Given the description of an element on the screen output the (x, y) to click on. 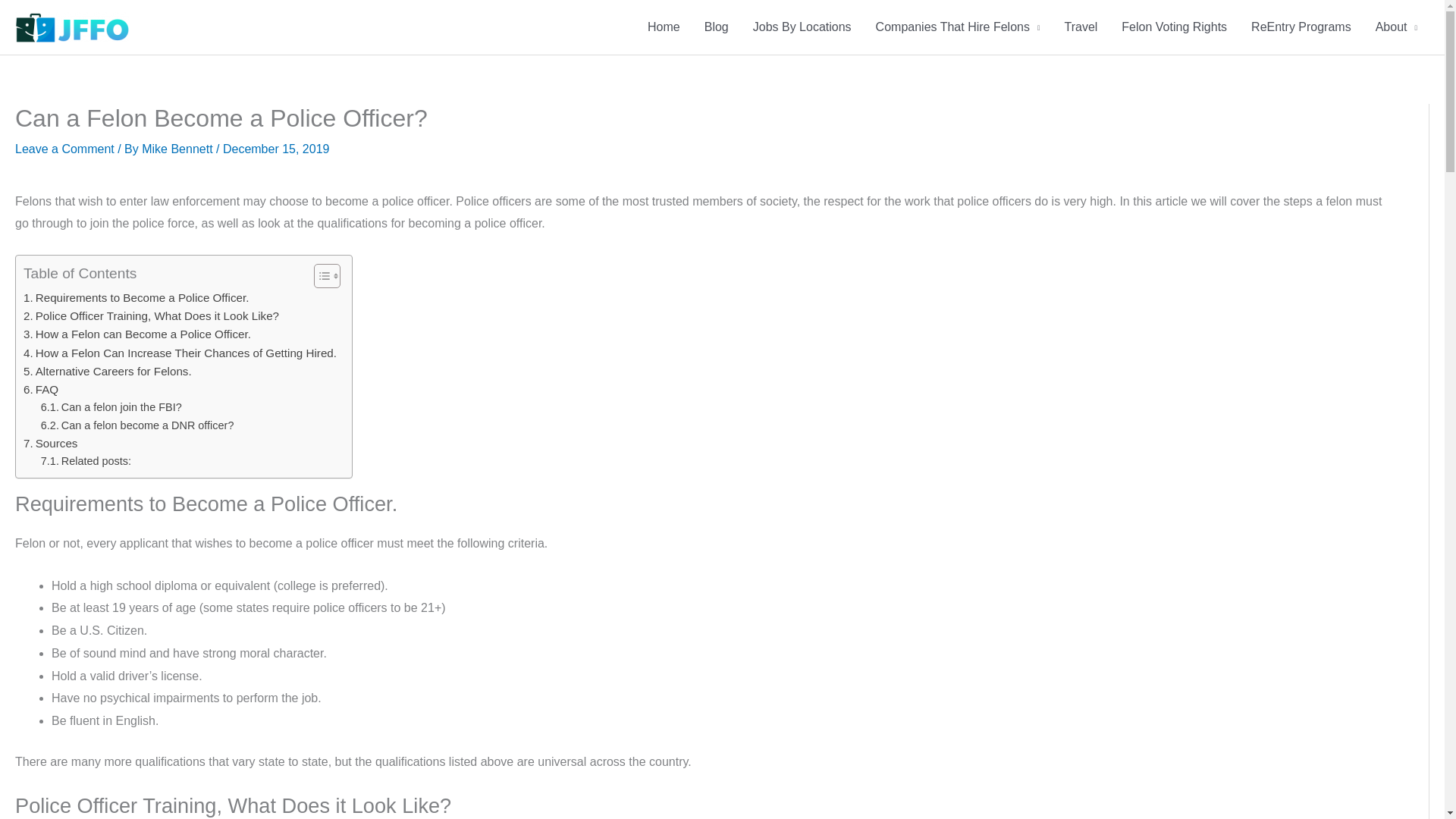
Home (663, 27)
Companies That Hire Felons (957, 27)
Sources (50, 443)
How a Felon can Become a Police Officer. (136, 334)
How a Felon Can Increase Their Chances of Getting Hired. (179, 352)
FAQ (40, 389)
Sources (50, 443)
About (1395, 27)
View all posts by Mike Bennett (178, 148)
Police Officer Training, What Does it Look Like? (151, 316)
